Given the description of an element on the screen output the (x, y) to click on. 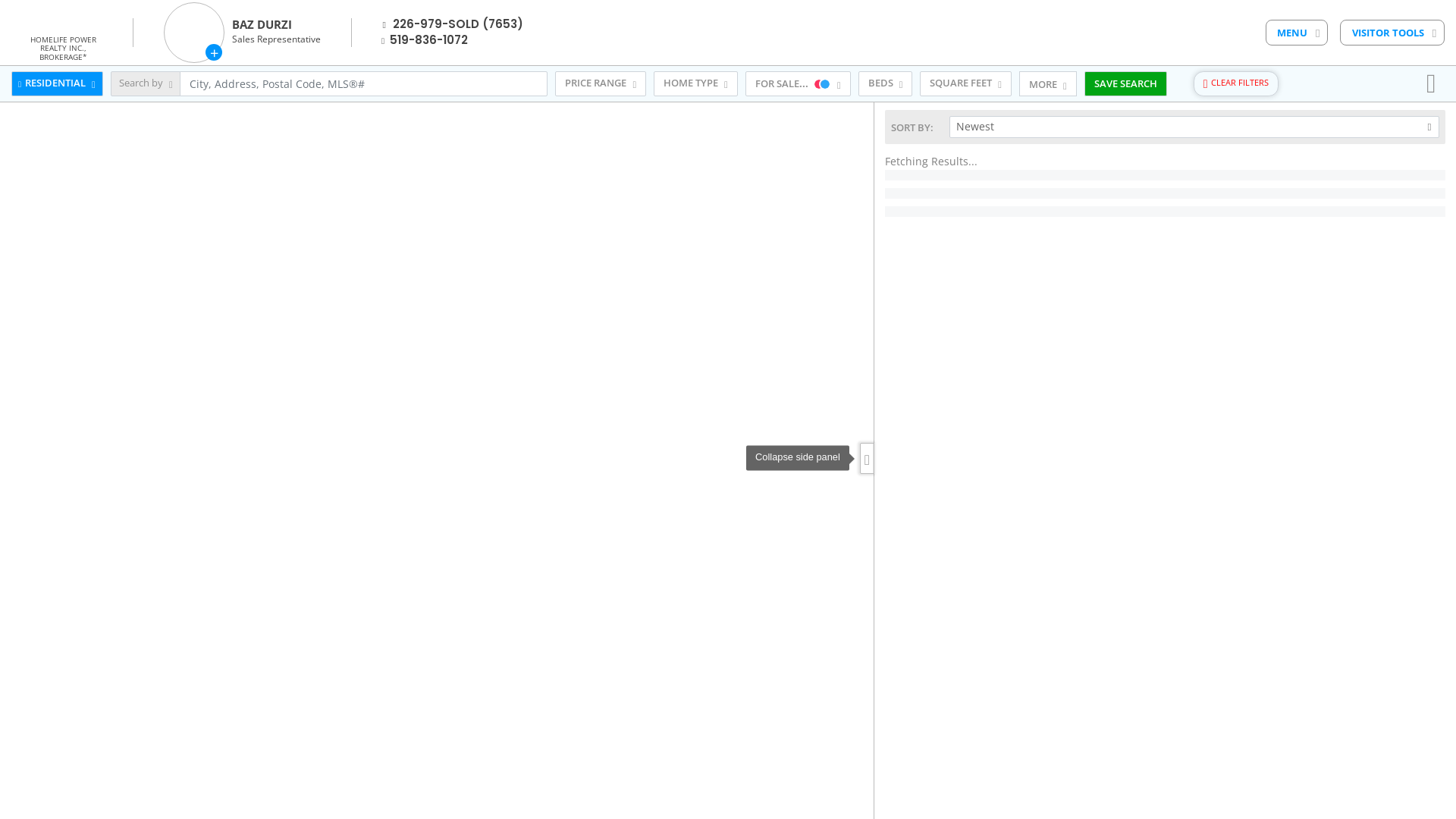
CLEAR FILTERS Element type: text (1236, 84)
BAZ DURZI Element type: text (261, 24)
MENU Element type: text (1296, 32)
RESIDENTIAL Element type: text (57, 84)
Sales Representative Element type: text (276, 38)
PRICE RANGE Element type: text (600, 84)
VISITOR TOOLS Element type: text (1391, 32)
SAVE SEARCH Element type: text (1125, 84)
Search by Element type: text (145, 84)
226-979-SOLD (7653) Element type: text (457, 23)
519-836-1072 Element type: text (428, 39)
HOME TYPE Element type: text (695, 84)
HOMELIFE POWER REALTY INC., BROKERAGE* Element type: text (62, 46)
FOR SALE... Element type: text (797, 84)
Newest Element type: text (1194, 127)
SQUARE FEET Element type: text (965, 84)
BEDS Element type: text (885, 84)
